Given the description of an element on the screen output the (x, y) to click on. 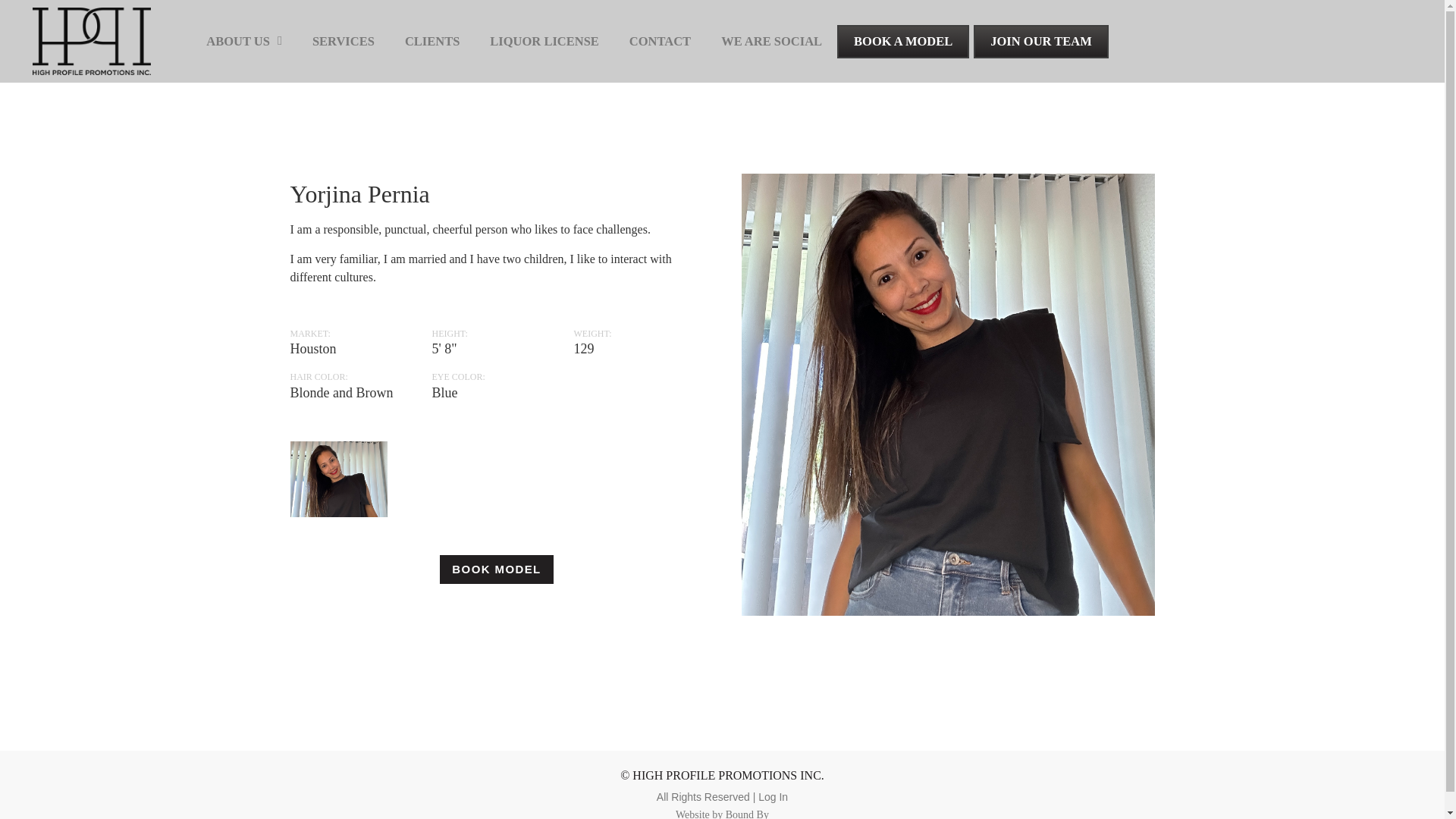
LIQUOR LICENSE (544, 41)
SERVICES (343, 41)
JOIN OUR TEAM (1041, 41)
BOOK A MODEL (903, 41)
ABOUT US (243, 41)
WE ARE SOCIAL (771, 41)
CLIENTS (432, 41)
CONTACT (660, 41)
